Given the description of an element on the screen output the (x, y) to click on. 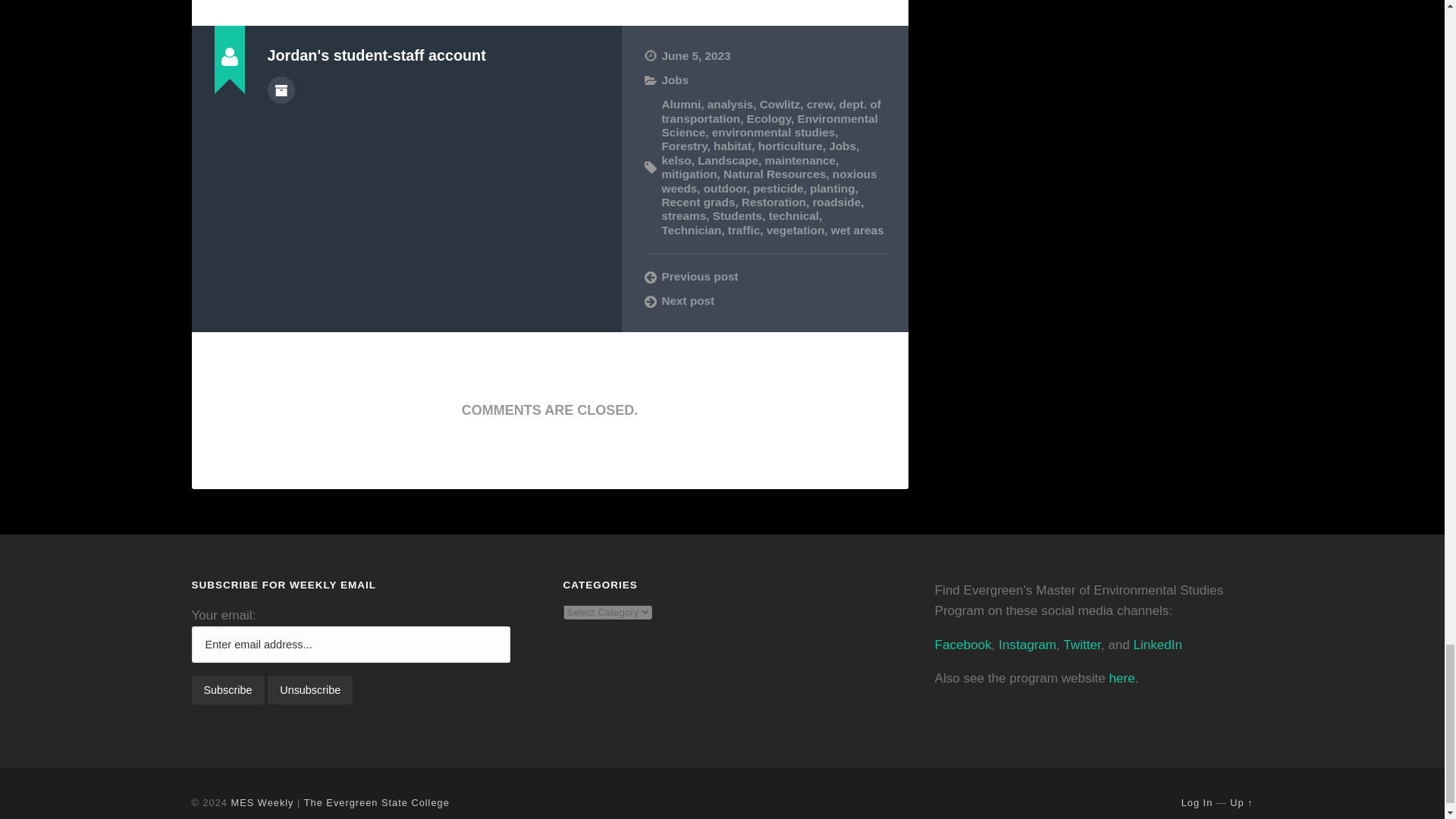
Alumni (680, 103)
Unsubscribe (309, 689)
Author archive (280, 90)
Jobs (674, 79)
Cowlitz (780, 103)
analysis (729, 103)
Enter email address... (349, 644)
MES Weekly (262, 802)
The Evergreen State College (376, 802)
dept. of transportation (770, 110)
